Given the description of an element on the screen output the (x, y) to click on. 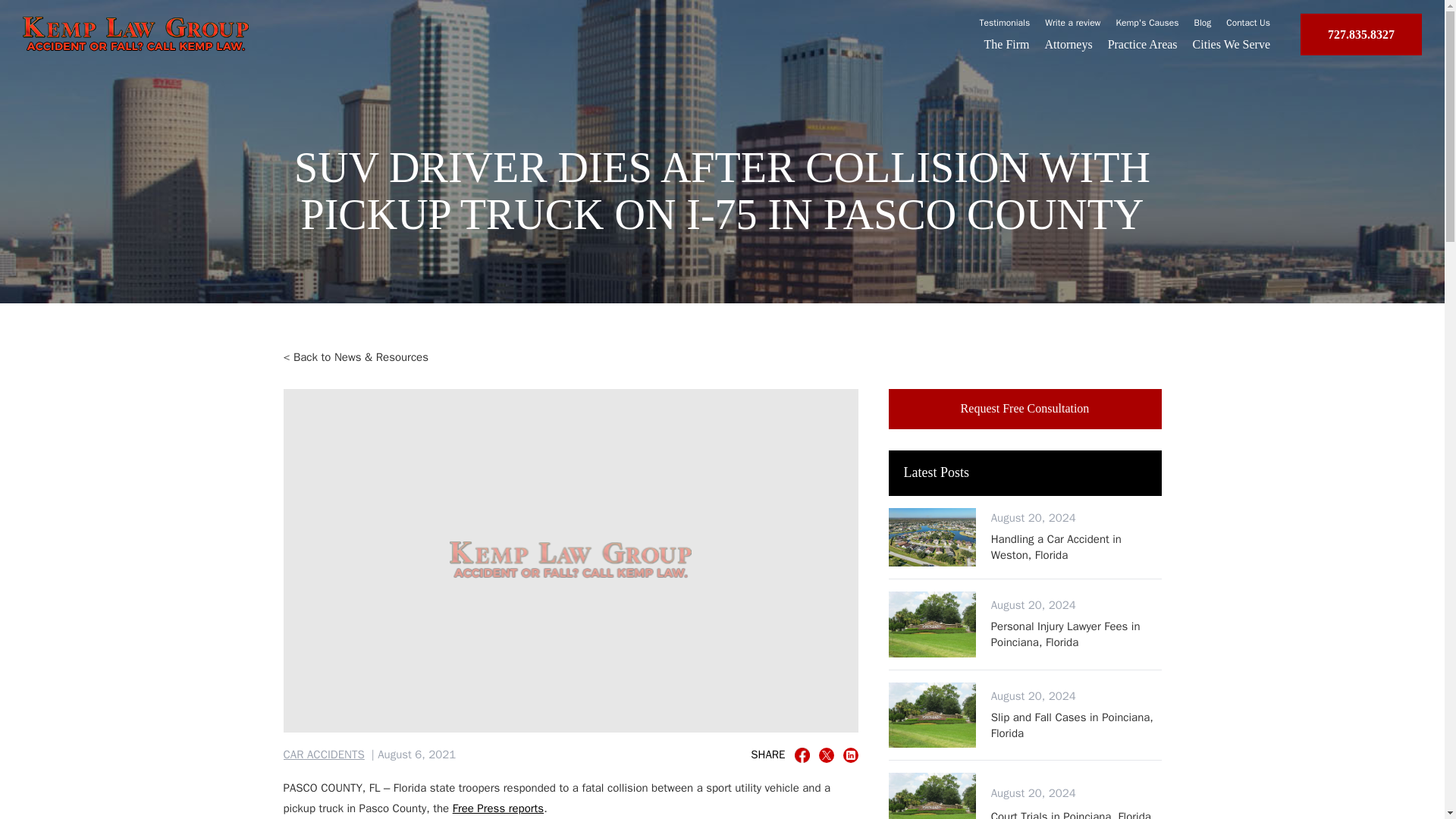
Handling a Car Accident in Weston, Florida (1076, 546)
Latest Posts (1024, 473)
Share in Facebook (801, 754)
Practice Areas (1142, 43)
The Firm (1006, 43)
Kemp's Causes (1147, 22)
Court Trials in Poinciana, Florida (1071, 814)
Free Press reports (497, 807)
Blog (1202, 22)
CAR ACCIDENTS (324, 754)
